Given the description of an element on the screen output the (x, y) to click on. 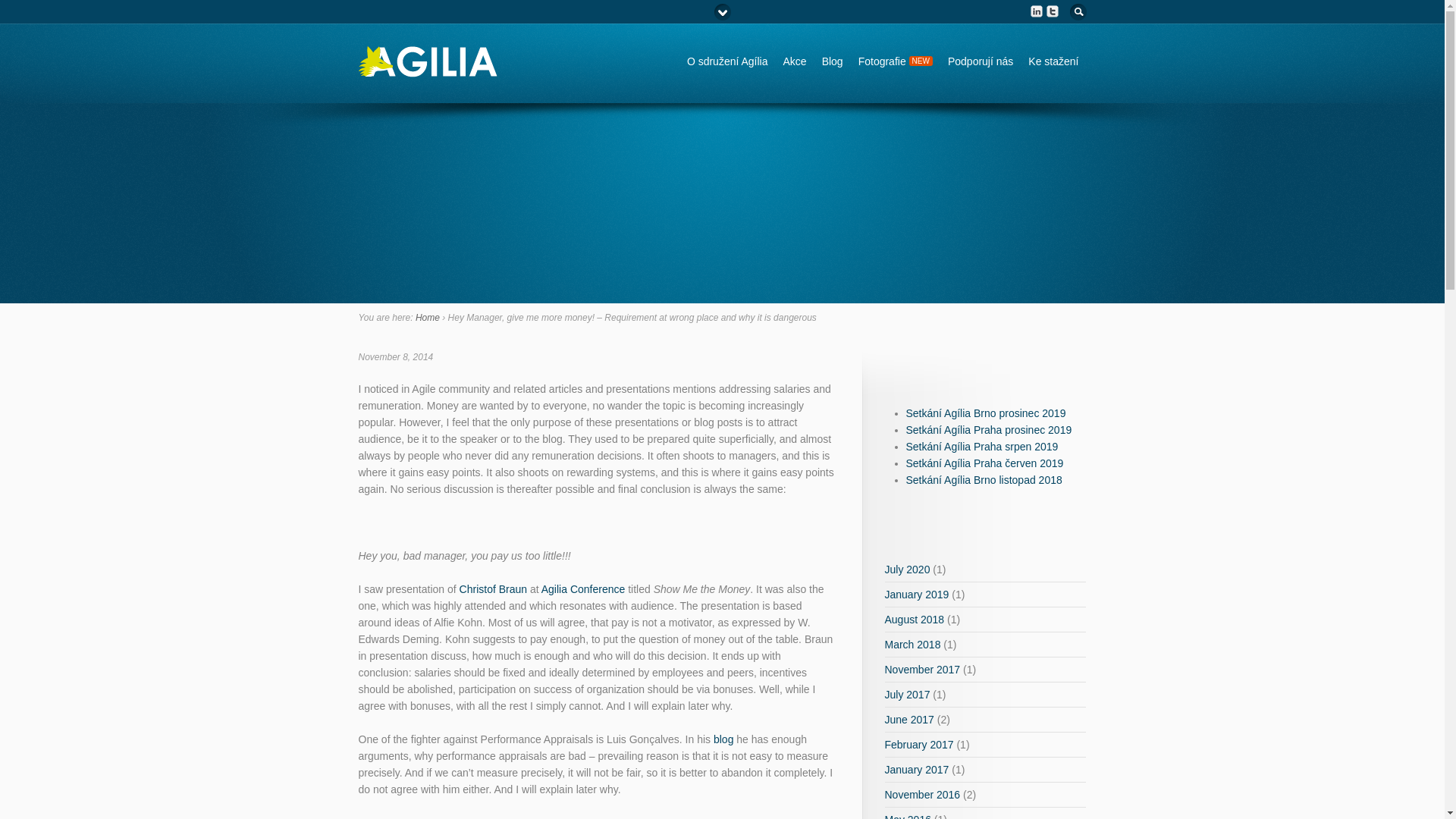
Blog (831, 60)
Home (426, 317)
Akce (793, 60)
Go back to the homepage (427, 70)
Christof Braun (493, 589)
blog (723, 739)
Agilia Conference (583, 589)
Fotografie NEW (895, 60)
